Given the description of an element on the screen output the (x, y) to click on. 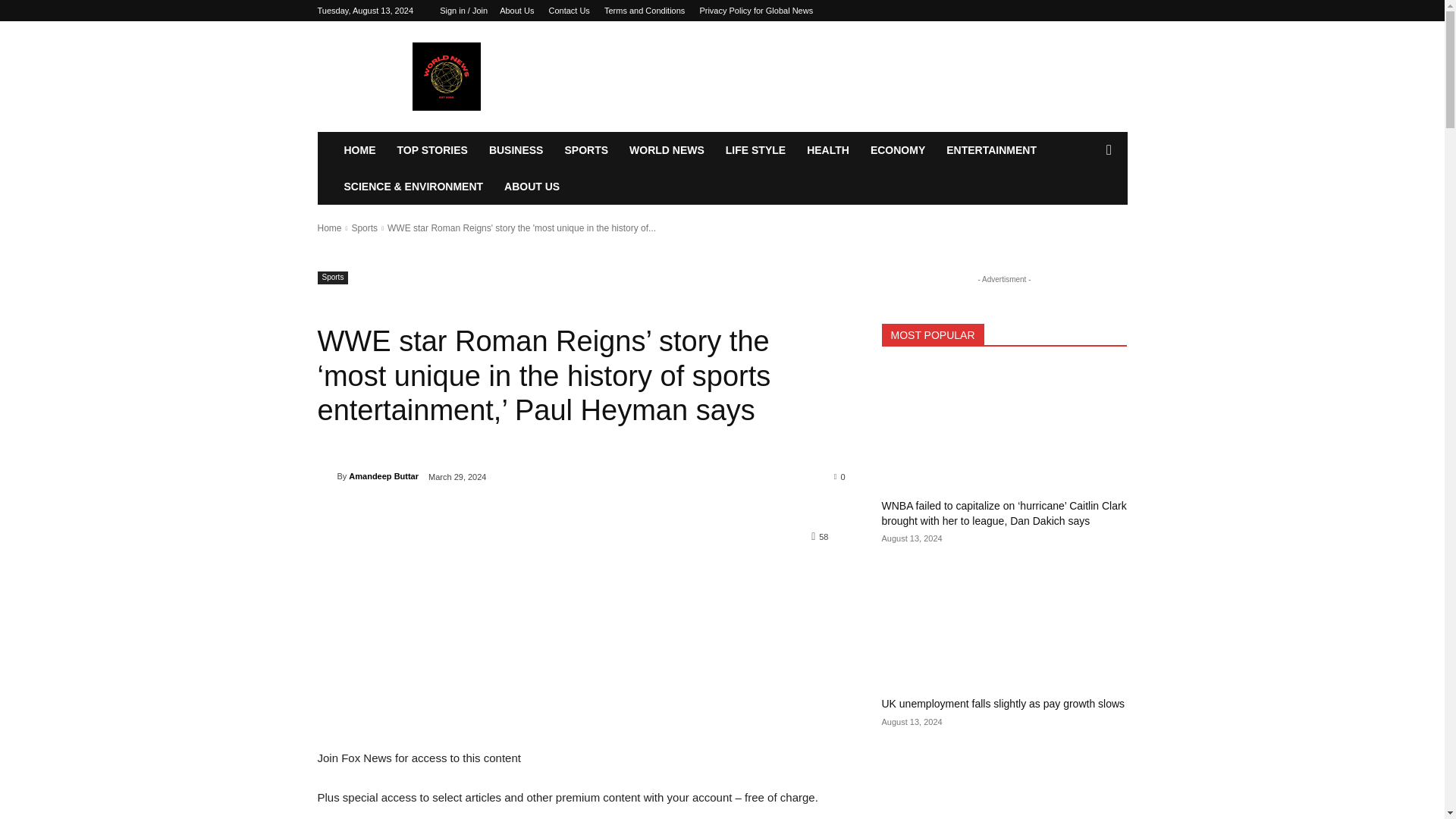
Privacy Policy for Global News (755, 10)
About Us (516, 10)
HOME (360, 149)
Contact Us (568, 10)
Terms and Conditions (644, 10)
BUSINESS (516, 149)
TOP STORIES (433, 149)
